Given the description of an element on the screen output the (x, y) to click on. 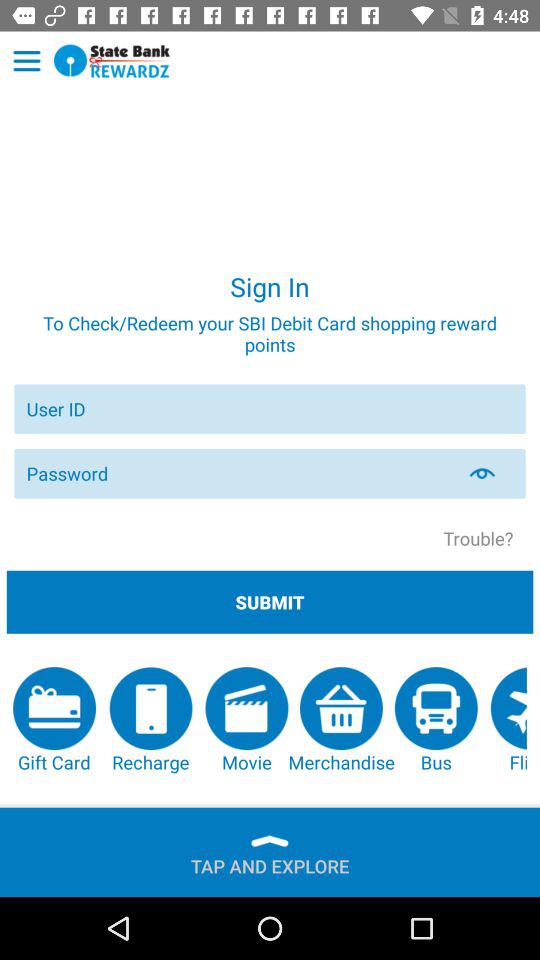
choose the button above the tap and explore (341, 720)
